Given the description of an element on the screen output the (x, y) to click on. 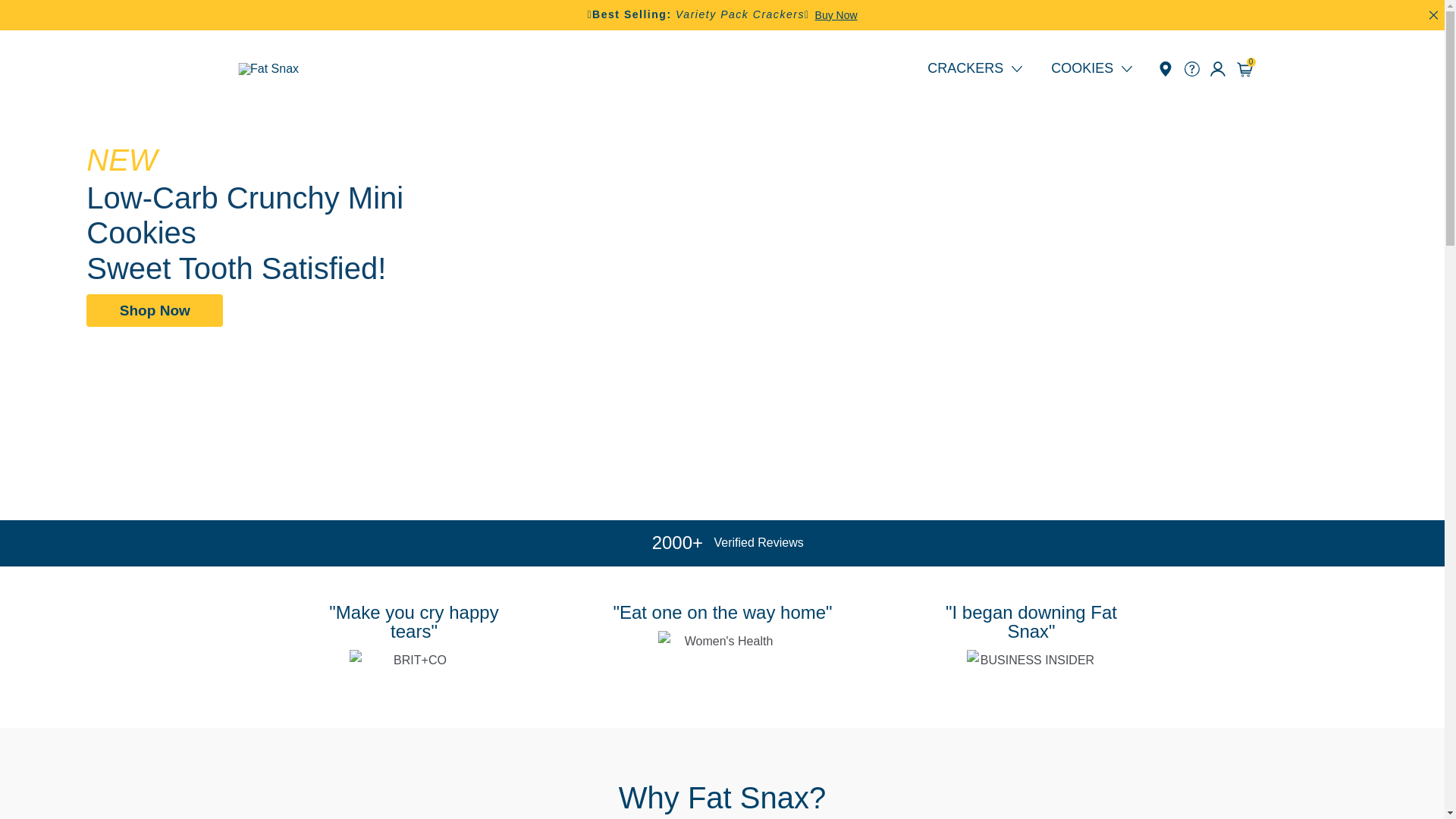
0 (1243, 68)
Buy Now (836, 15)
CRACKERS (981, 68)
COOKIES (1085, 68)
